Given the description of an element on the screen output the (x, y) to click on. 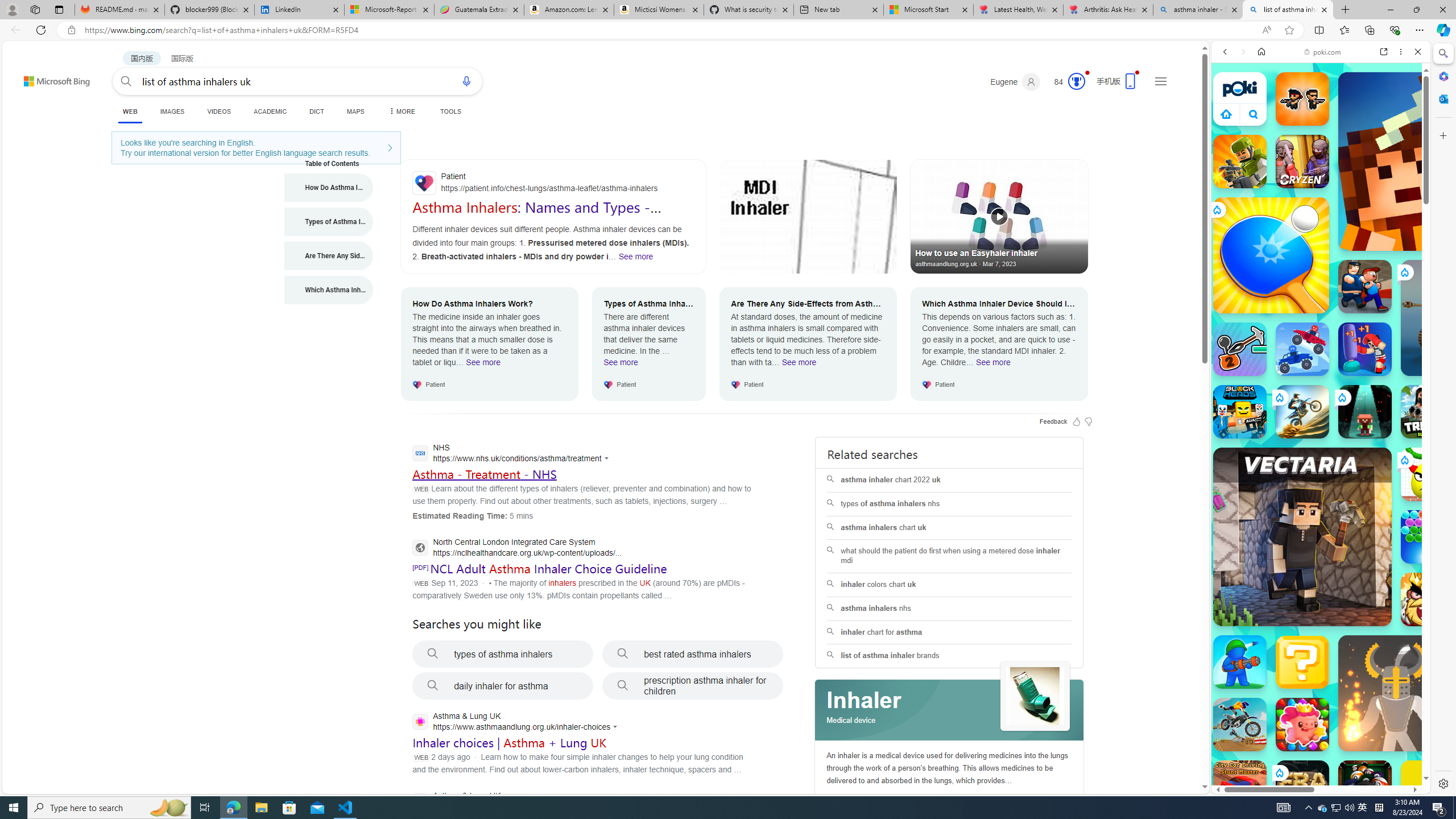
War Master War Master (1239, 661)
Web scope (1230, 102)
Vectaria.io (1301, 536)
DICT (316, 111)
Two Player Games (1320, 323)
Ragdoll Hit (1396, 693)
Stickman Climb 2 Stickman Climb 2 (1239, 348)
Era: Evolution Era: Evolution (1302, 787)
Vectaria.io Vectaria.io (1301, 536)
